Given the description of an element on the screen output the (x, y) to click on. 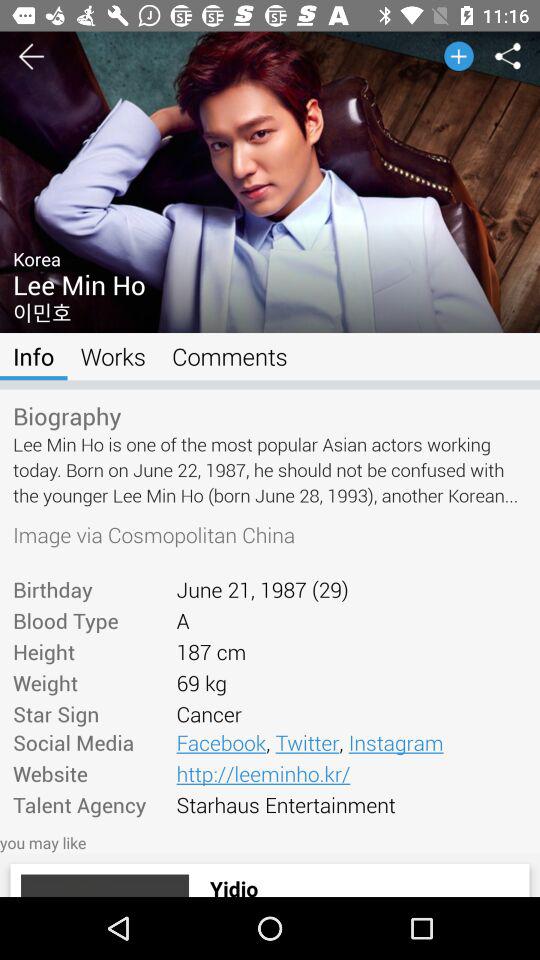
click the http://leeminho.kr/ item (351, 773)
